Given the description of an element on the screen output the (x, y) to click on. 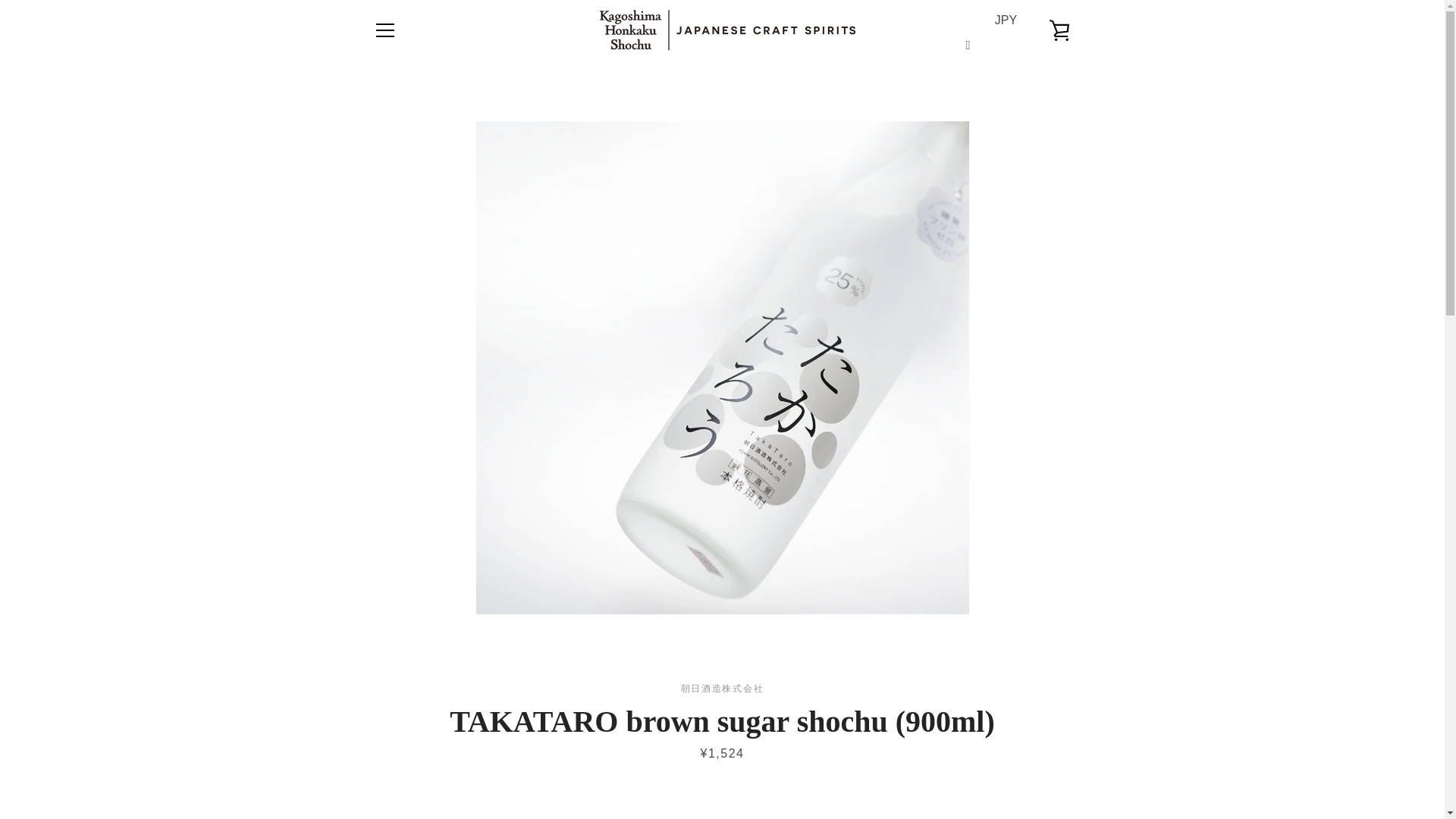
SUBSCRIBE (1029, 593)
KAGOSHIMA PREFECTURE SAKE BREWERS ASSOCIATION (520, 702)
VIEW CART (1059, 30)
Kagoshima Honkaku Shochu - Japanese craft spirits (751, 768)
CONTACT (397, 613)
COMPANY (397, 635)
ONLINE TEACHING MATERIALS (451, 569)
SEARCH (394, 523)
JPY (1004, 30)
PRIVACY POLICY (416, 680)
MENU (384, 30)
KAGOSHIMA HONKAKU SHOCHU LIST (468, 591)
MESSAGE (397, 546)
